Given the description of an element on the screen output the (x, y) to click on. 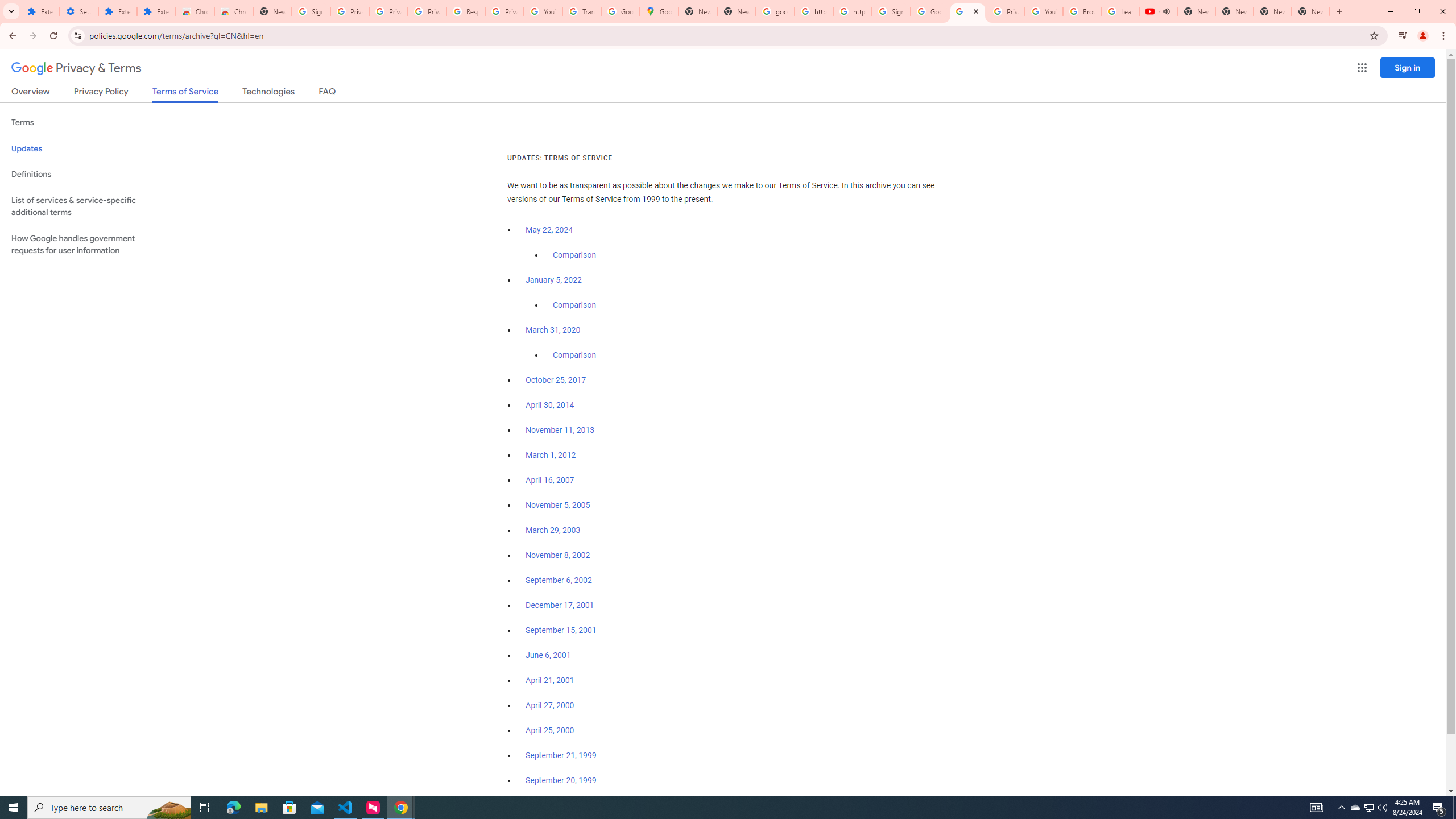
November 8, 2002 (557, 555)
September 21, 1999 (560, 755)
April 30, 2014 (550, 405)
Chrome Web Store (194, 11)
June 6, 2001 (547, 655)
April 25, 2000 (550, 729)
May 22, 2024 (549, 230)
December 17, 2001 (559, 605)
